Given the description of an element on the screen output the (x, y) to click on. 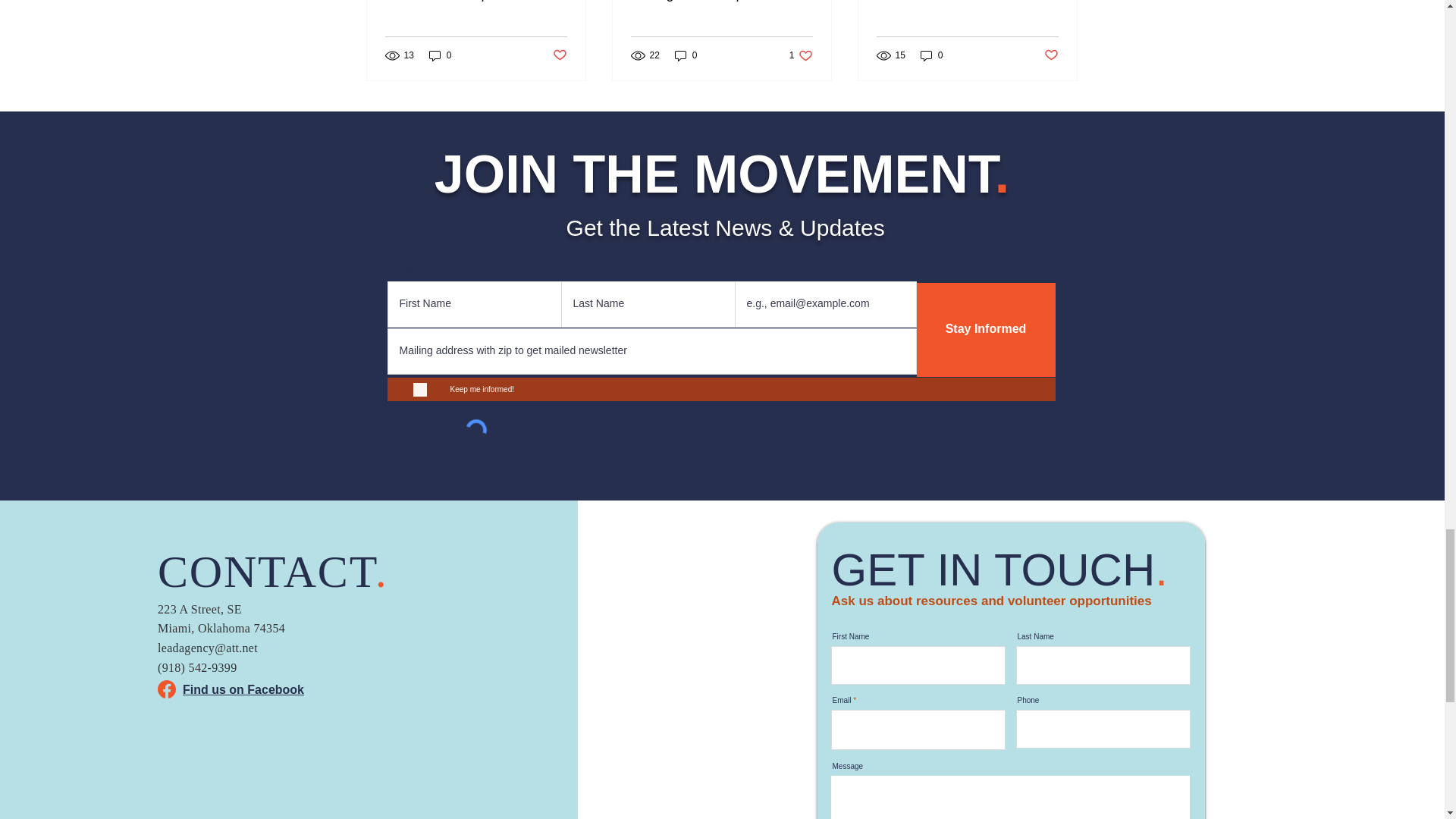
0 (685, 55)
Numbers Add Up  (476, 1)
Post not marked as liked (800, 55)
Through the Bump Gate (558, 55)
0 (721, 1)
